Given the description of an element on the screen output the (x, y) to click on. 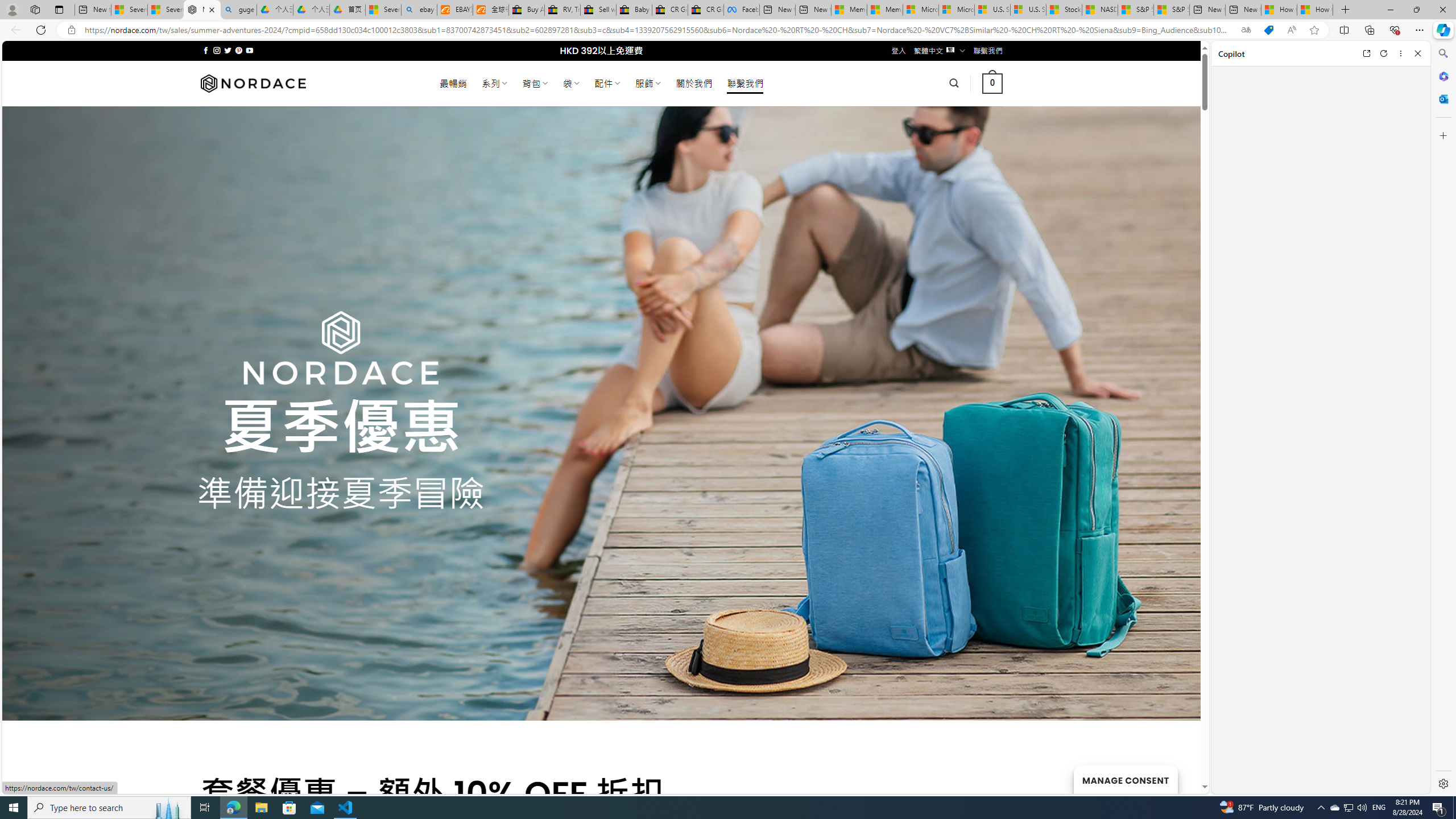
Outlook (1442, 98)
Facebook (741, 9)
Follow on YouTube (249, 50)
Follow on Facebook (205, 50)
